Given the description of an element on the screen output the (x, y) to click on. 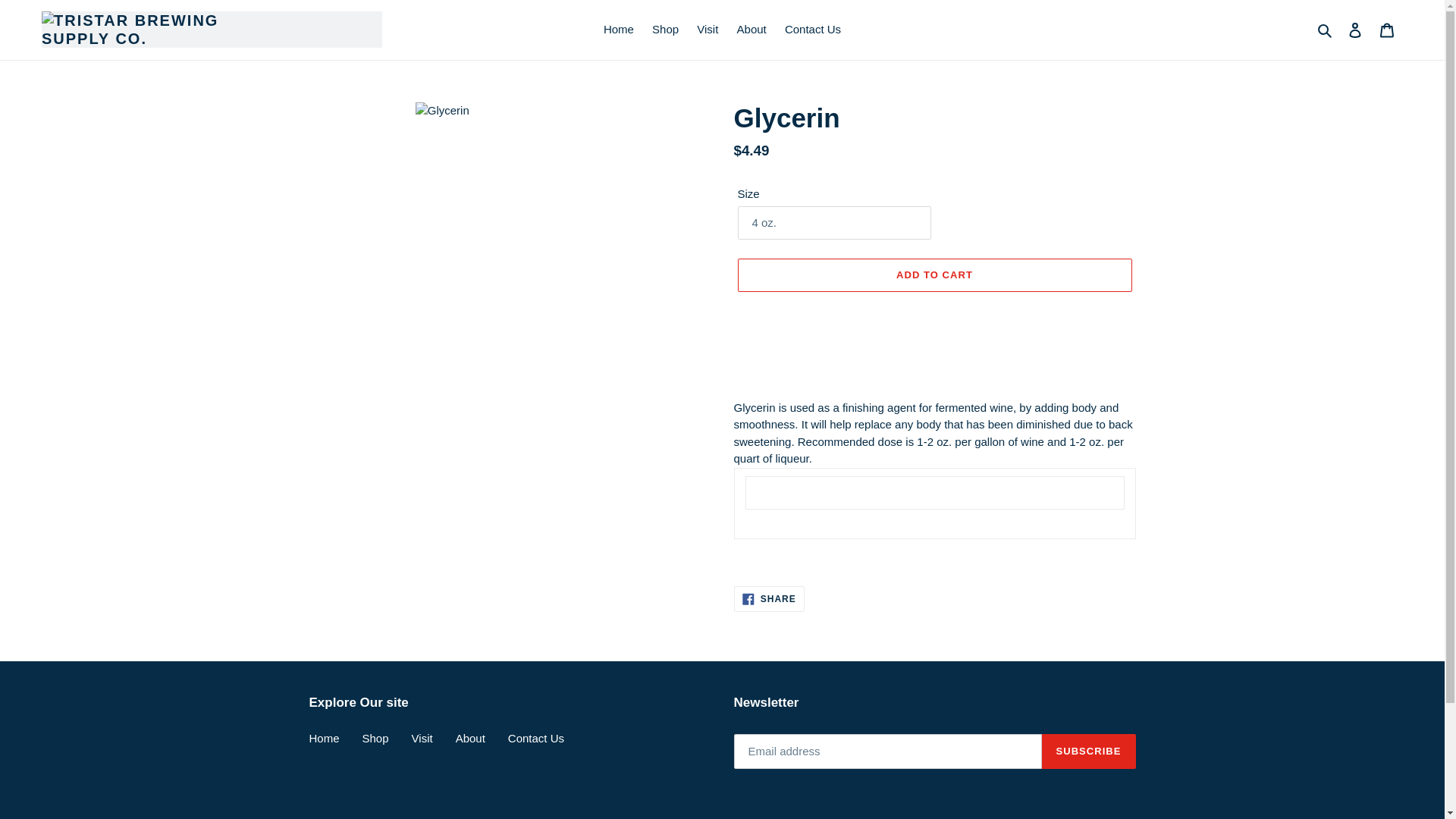
Visit (422, 738)
Log in (1355, 29)
SUBSCRIBE (1088, 751)
Shop (665, 29)
Contact Us (536, 738)
Search (769, 598)
ADD TO CART (1326, 29)
Shop (933, 274)
